Given the description of an element on the screen output the (x, y) to click on. 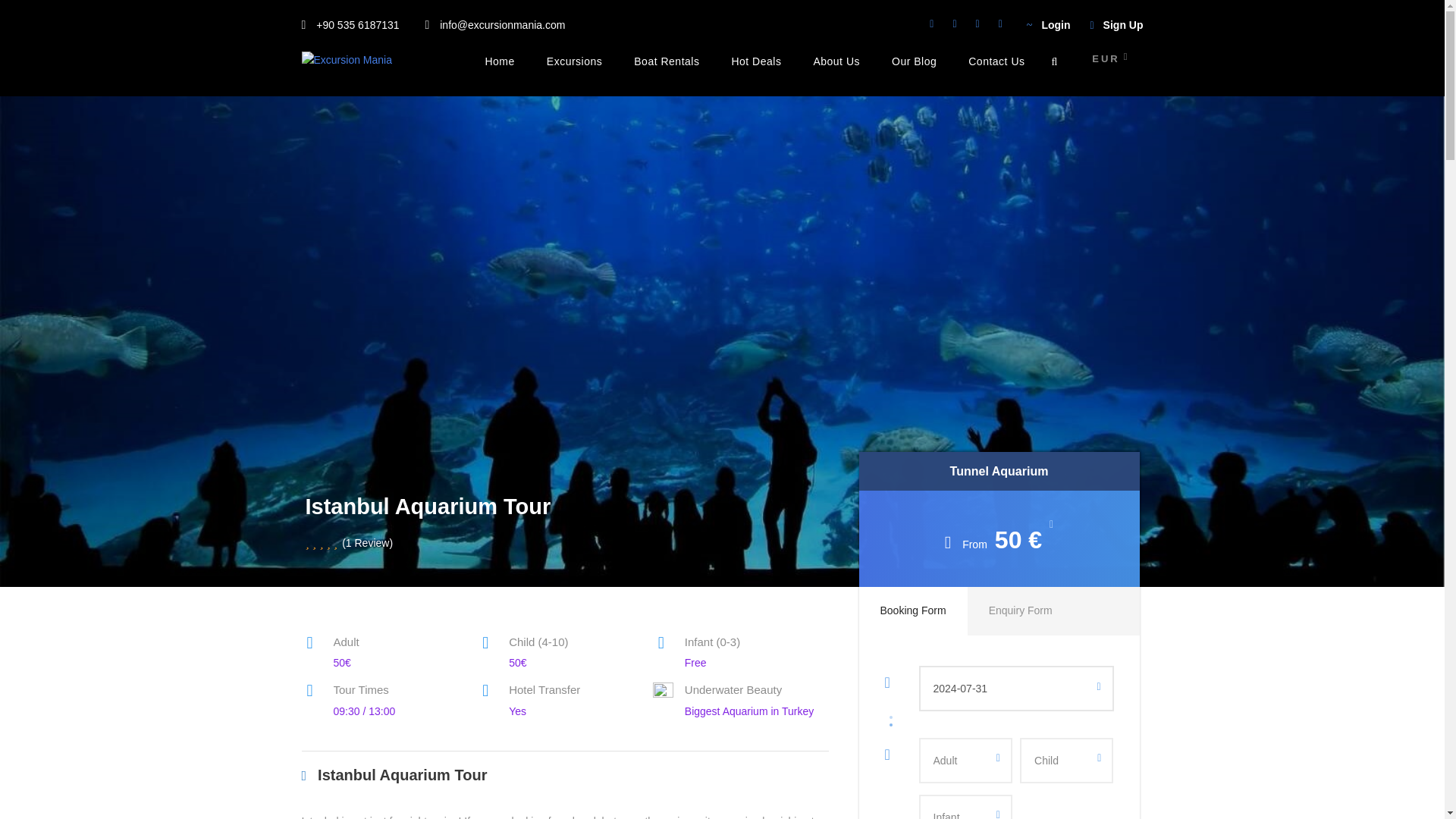
instagram (1000, 23)
2024-07-31 (1015, 688)
twitter (977, 23)
reef (662, 692)
email (931, 23)
facebook (954, 23)
